Given the description of an element on the screen output the (x, y) to click on. 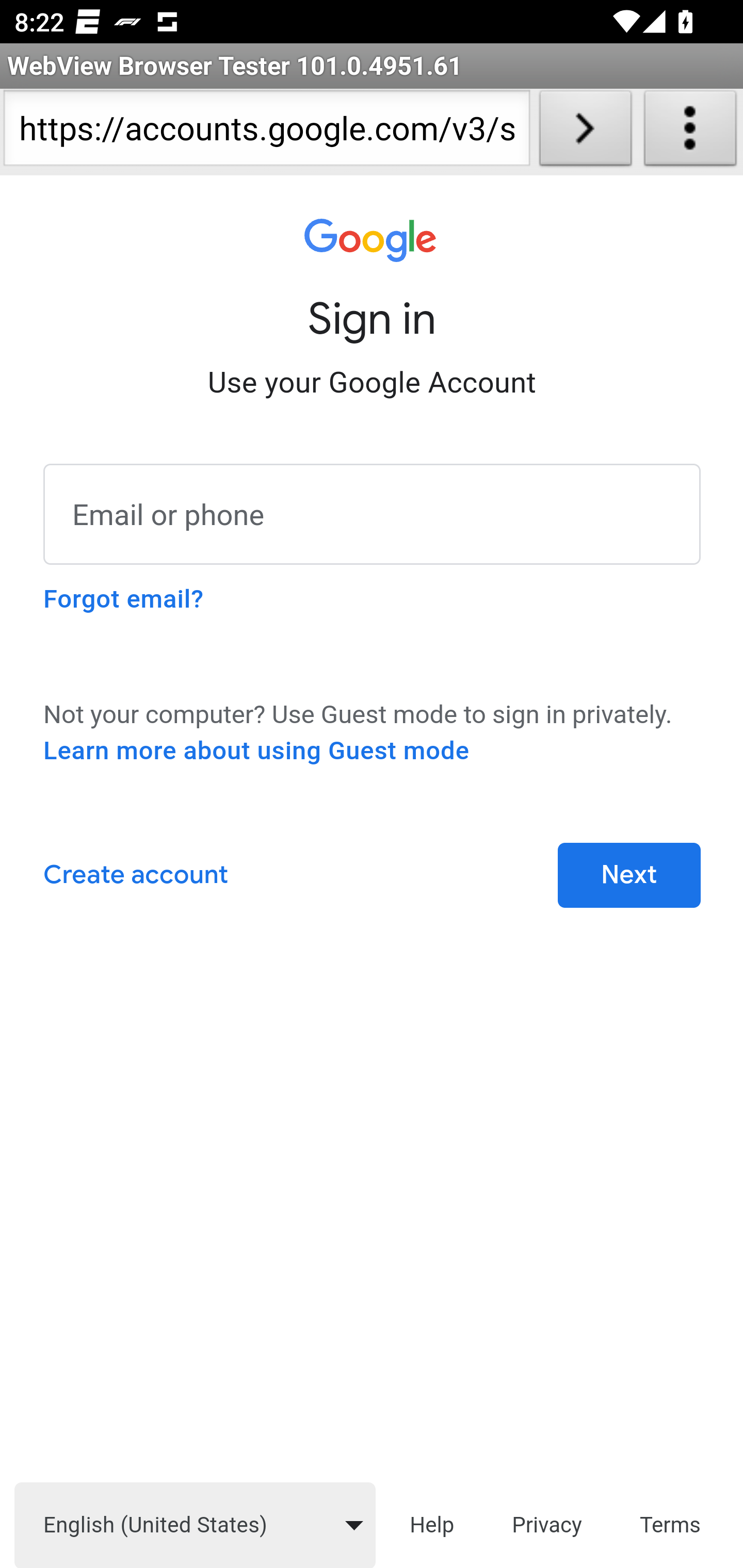
Load URL (585, 132)
About WebView (690, 132)
Forgot email? (123, 599)
Learn more about using Guest mode (256, 750)
Create account (134, 875)
Next (629, 875)
Help (430, 1524)
Privacy (547, 1524)
Terms (670, 1524)
